Given the description of an element on the screen output the (x, y) to click on. 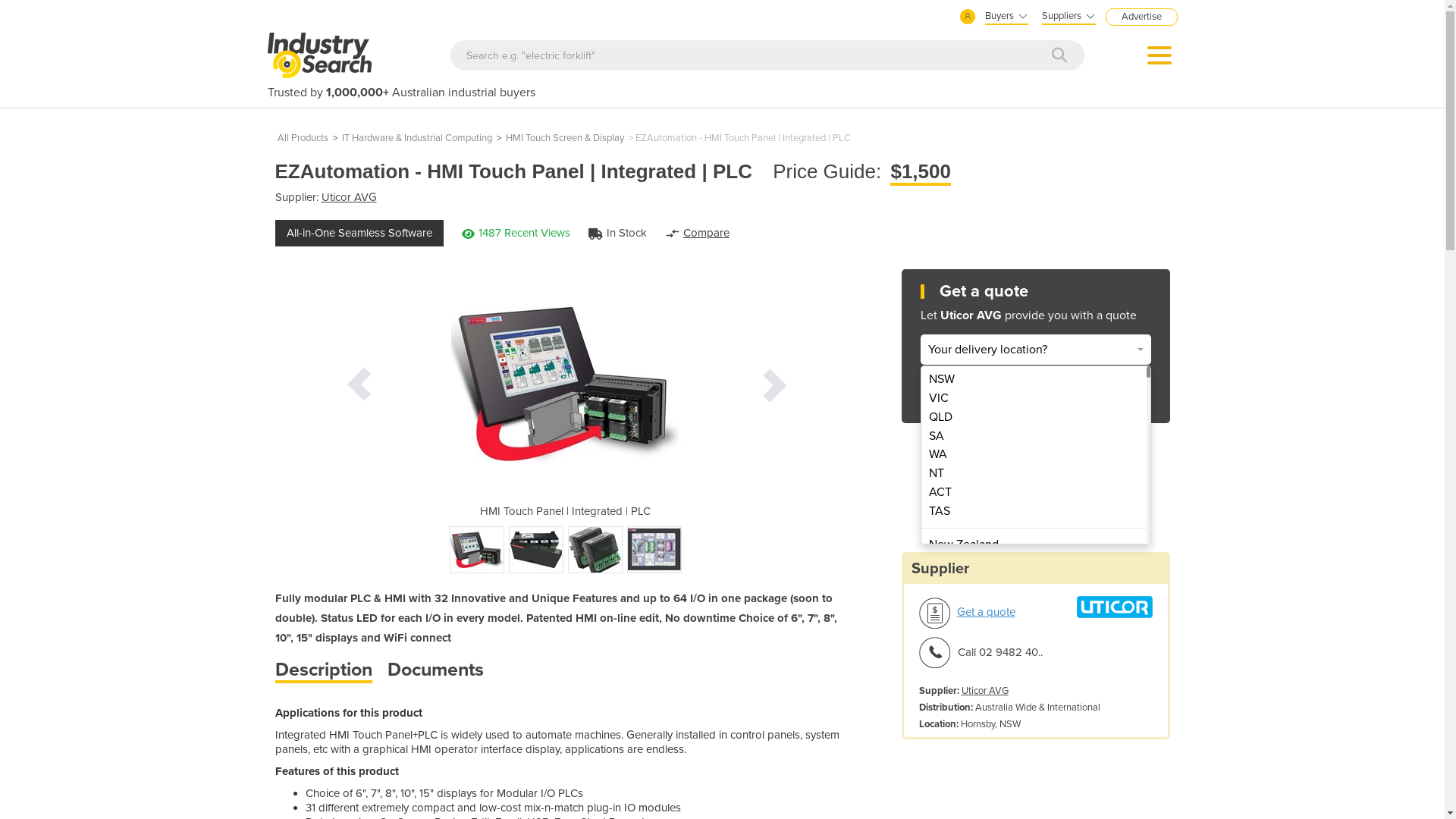
Algeria Element type: text (1032, 633)
Papua New Guinea Element type: text (1032, 563)
Austria Element type: text (1032, 746)
Azerbaijan Element type: text (1032, 765)
WA Element type: text (1032, 454)
IT Hardware & Industrial Computing Element type: text (416, 138)
TAS Element type: text (1032, 511)
New Zealand Element type: text (1032, 544)
QLD Element type: text (1032, 416)
Antigua and Barbuda Element type: text (1032, 690)
Advertise Element type: text (1141, 16)
Armenia Element type: text (1032, 727)
Uticor AVG Element type: text (348, 196)
Andorra Element type: text (1032, 652)
SA Element type: text (1032, 435)
Get a quote Element type: text (986, 612)
Get Quote Now Element type: text (1035, 392)
HMI Touch Screen & Display Element type: text (564, 138)
Bahamas Element type: text (1032, 784)
ACT Element type: text (1032, 492)
Argentina Element type: text (1032, 709)
All Products Element type: text (302, 137)
Your delivery location? Element type: text (1035, 349)
Uticor AVG Element type: text (984, 691)
Angola Element type: text (1032, 671)
Compare Element type: text (705, 232)
Bahrain Element type: text (1032, 803)
NSW Element type: text (1032, 379)
NT Element type: text (1032, 473)
Albania Element type: text (1032, 614)
VIC Element type: text (1032, 398)
Afghanistan Element type: text (1032, 595)
